Given the description of an element on the screen output the (x, y) to click on. 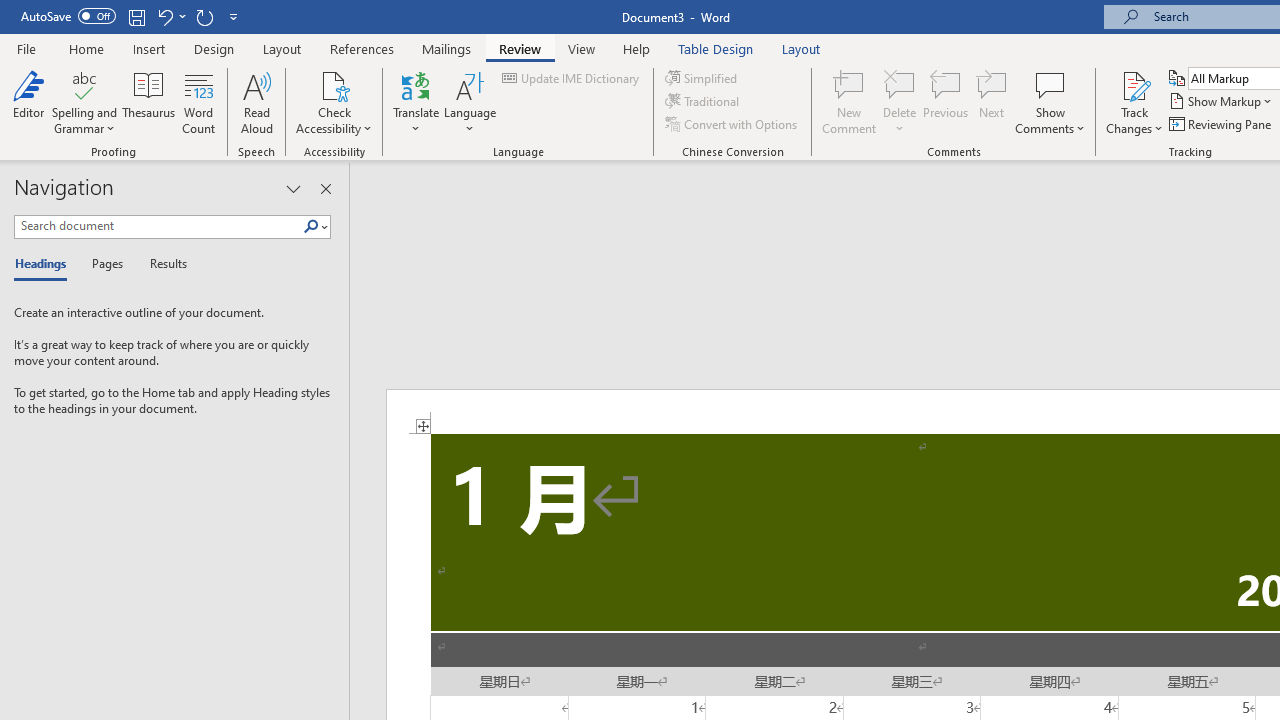
Repeat Doc Close (204, 15)
Track Changes (1134, 102)
Delete (900, 102)
Show Comments (1050, 102)
Spelling and Grammar (84, 84)
Translate (415, 102)
Show Comments (1050, 84)
